Given the description of an element on the screen output the (x, y) to click on. 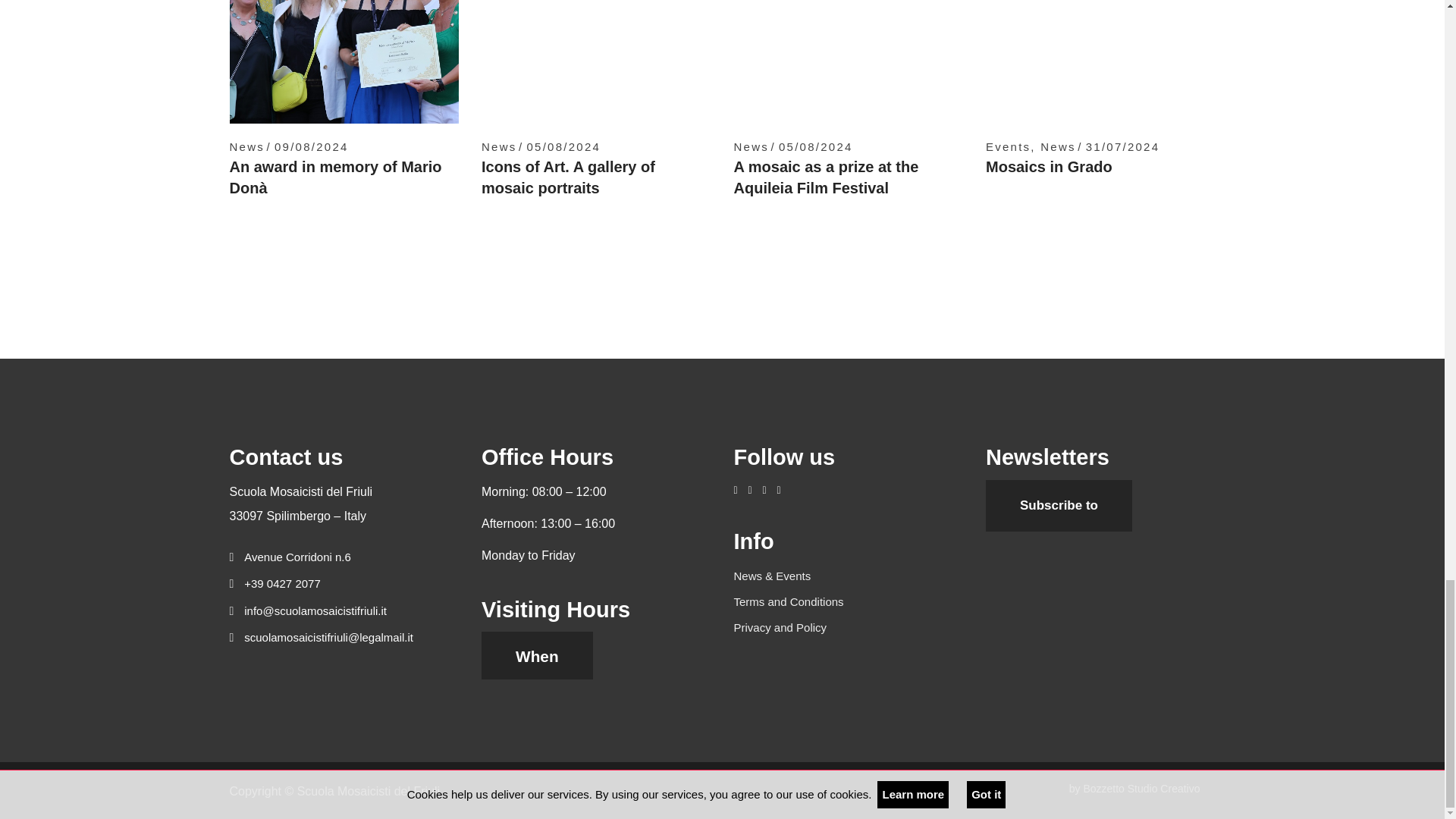
A mosaic as a prize at the Aquileia Film Festival (825, 177)
A mosaic as a prize at the Aquileia Film Festival (848, 62)
Icons of Art. A gallery of mosaic portraits (596, 62)
Mosaics in Grado (1100, 62)
Mosaics in Grado (1048, 166)
Icons of Art. A gallery of mosaic portraits (568, 177)
